Given the description of an element on the screen output the (x, y) to click on. 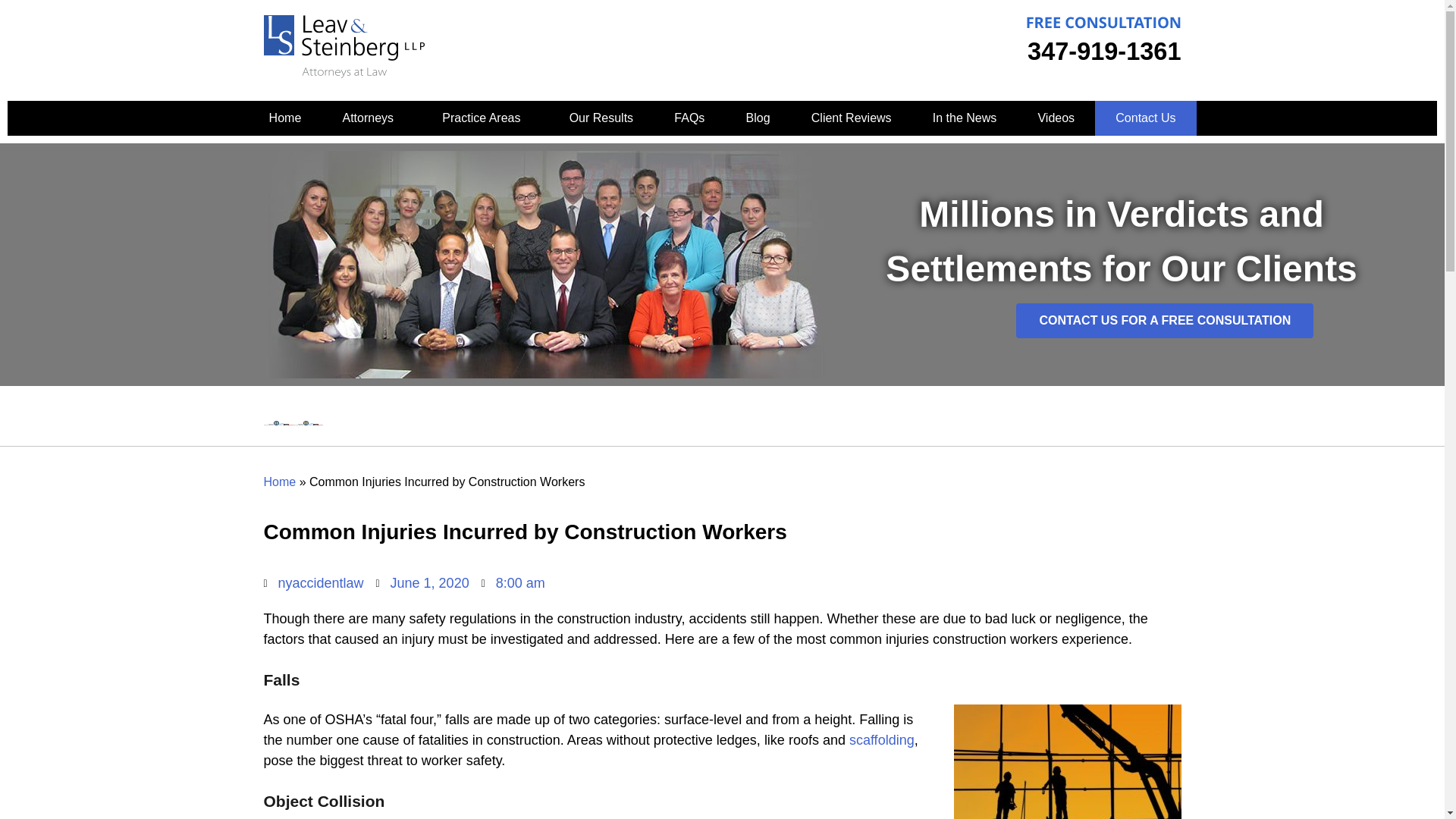
Attorneys (371, 117)
347-919-1361 (1103, 51)
Practice Areas (485, 117)
Home (284, 117)
